Given the description of an element on the screen output the (x, y) to click on. 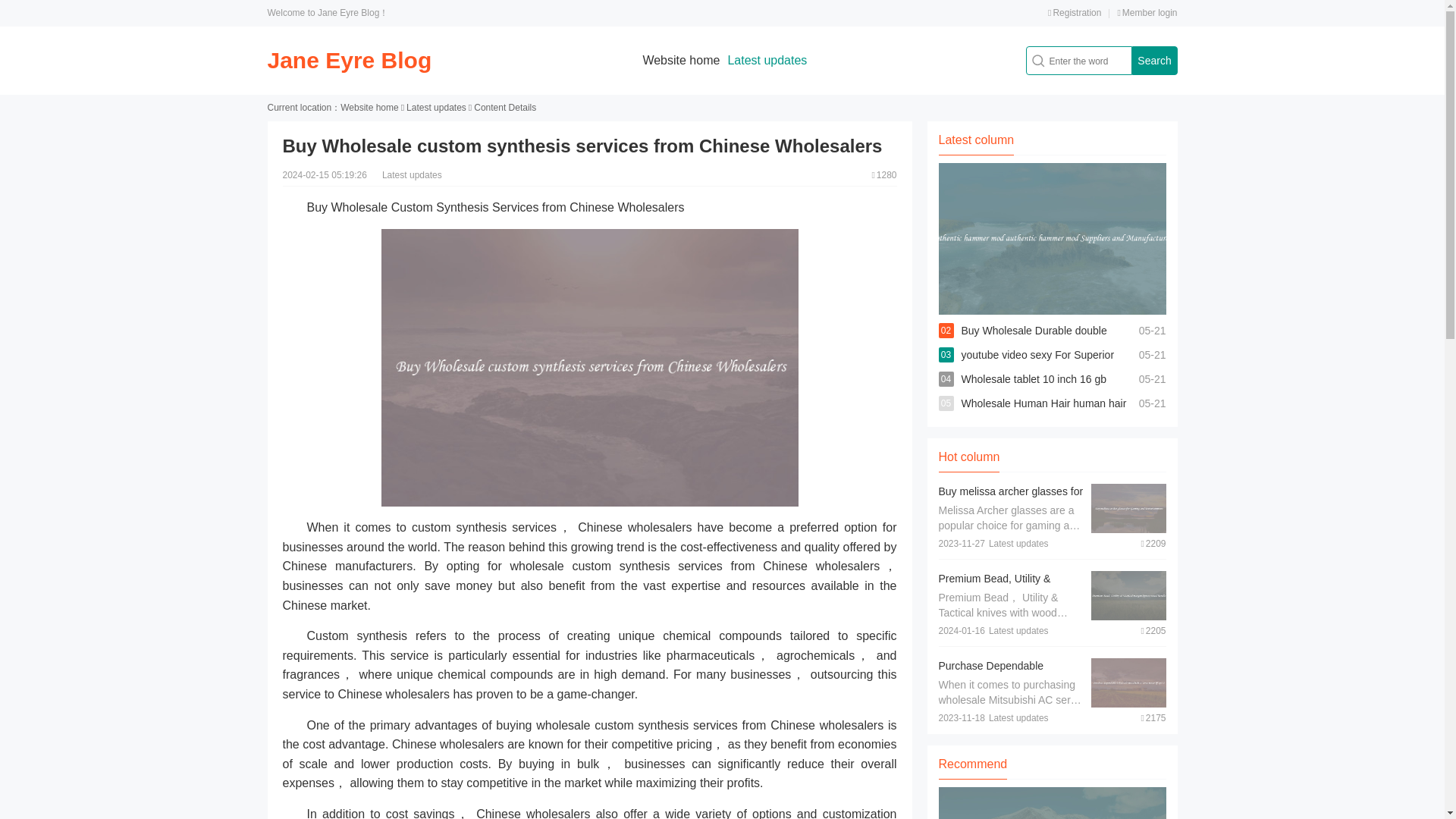
Website home (368, 107)
Wholesale Human Hair human hair peruk For Discreteness (1043, 415)
Jane Eyre Blog (348, 59)
Website home (680, 60)
youtube video sexy For Superior Performance (1037, 366)
Latest updates (435, 107)
Wholesale tablet 10 inch 16 gb Versatile Portable Computing (1033, 391)
Member login (1146, 12)
Buy melissa archer glasses for Gaming and Entertainment (1011, 498)
Latest updates (766, 60)
Registration (1074, 12)
Search (1153, 60)
